Given the description of an element on the screen output the (x, y) to click on. 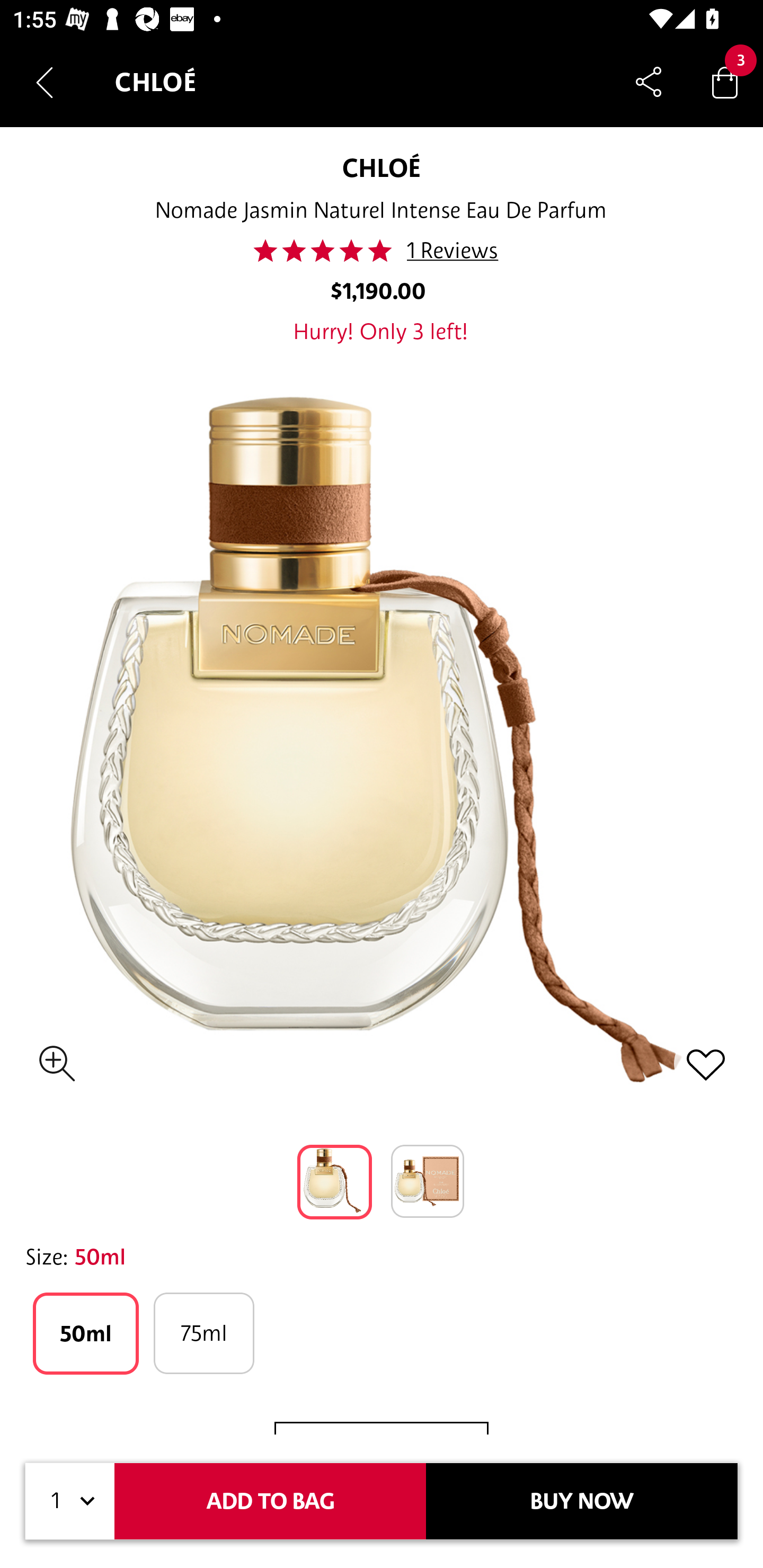
Navigate up (44, 82)
Share (648, 81)
Bag (724, 81)
CHLOÉ (381, 167)
50.0 1 Reviews (381, 250)
50ml (85, 1333)
75ml (203, 1332)
1 (69, 1500)
ADD TO BAG (269, 1500)
BUY NOW (581, 1500)
